Given the description of an element on the screen output the (x, y) to click on. 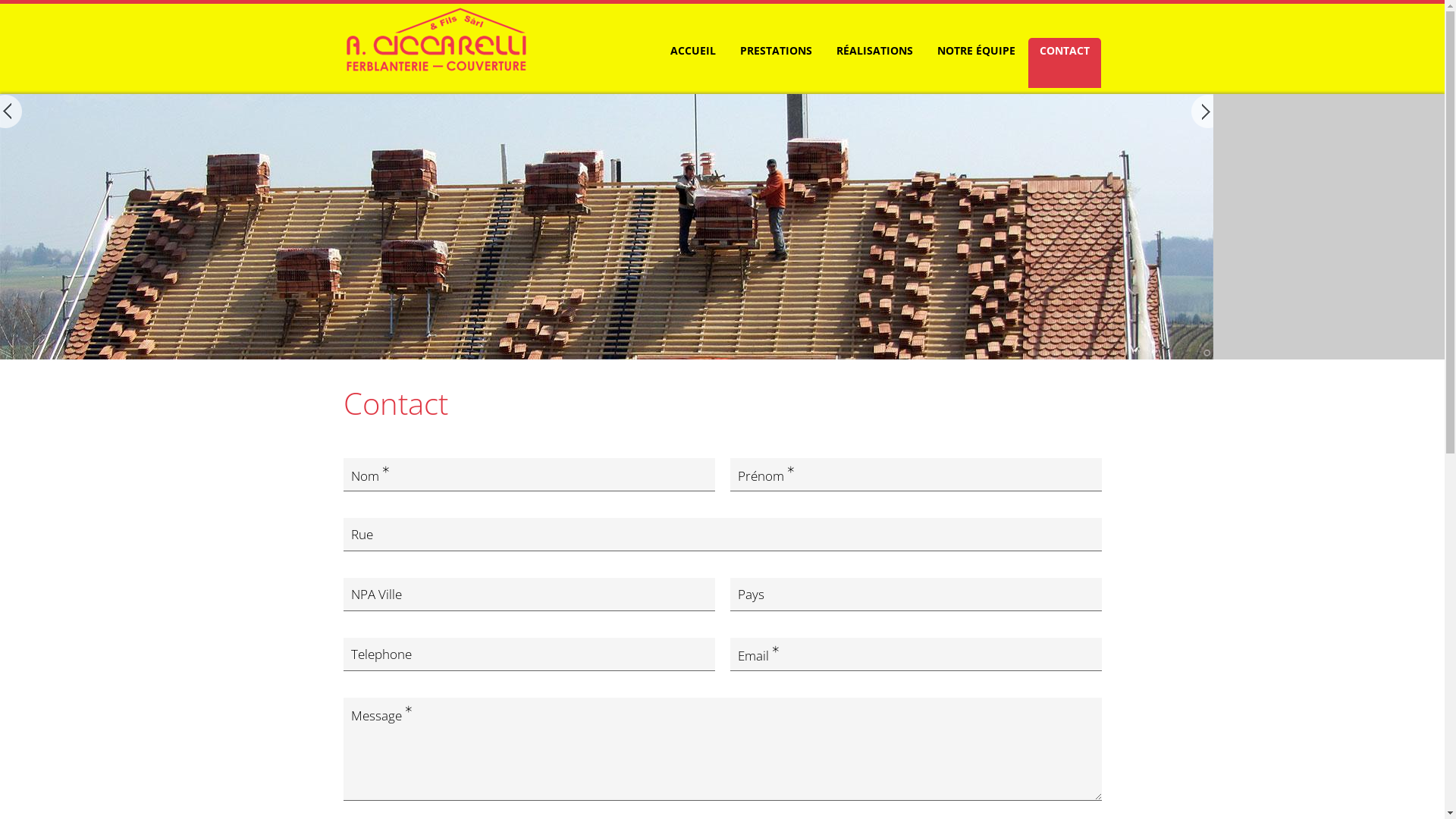
champ obligatoire Element type: hover (915, 654)
champ obligatoire Element type: hover (528, 474)
champ obligatoire Element type: hover (721, 748)
CONTACT Element type: text (1064, 62)
PRESTATIONS Element type: text (775, 62)
champ obligatoire Element type: hover (915, 474)
ACCUEIL Element type: text (692, 62)
champ obligatoire Element type: hover (343, 809)
